Given the description of an element on the screen output the (x, y) to click on. 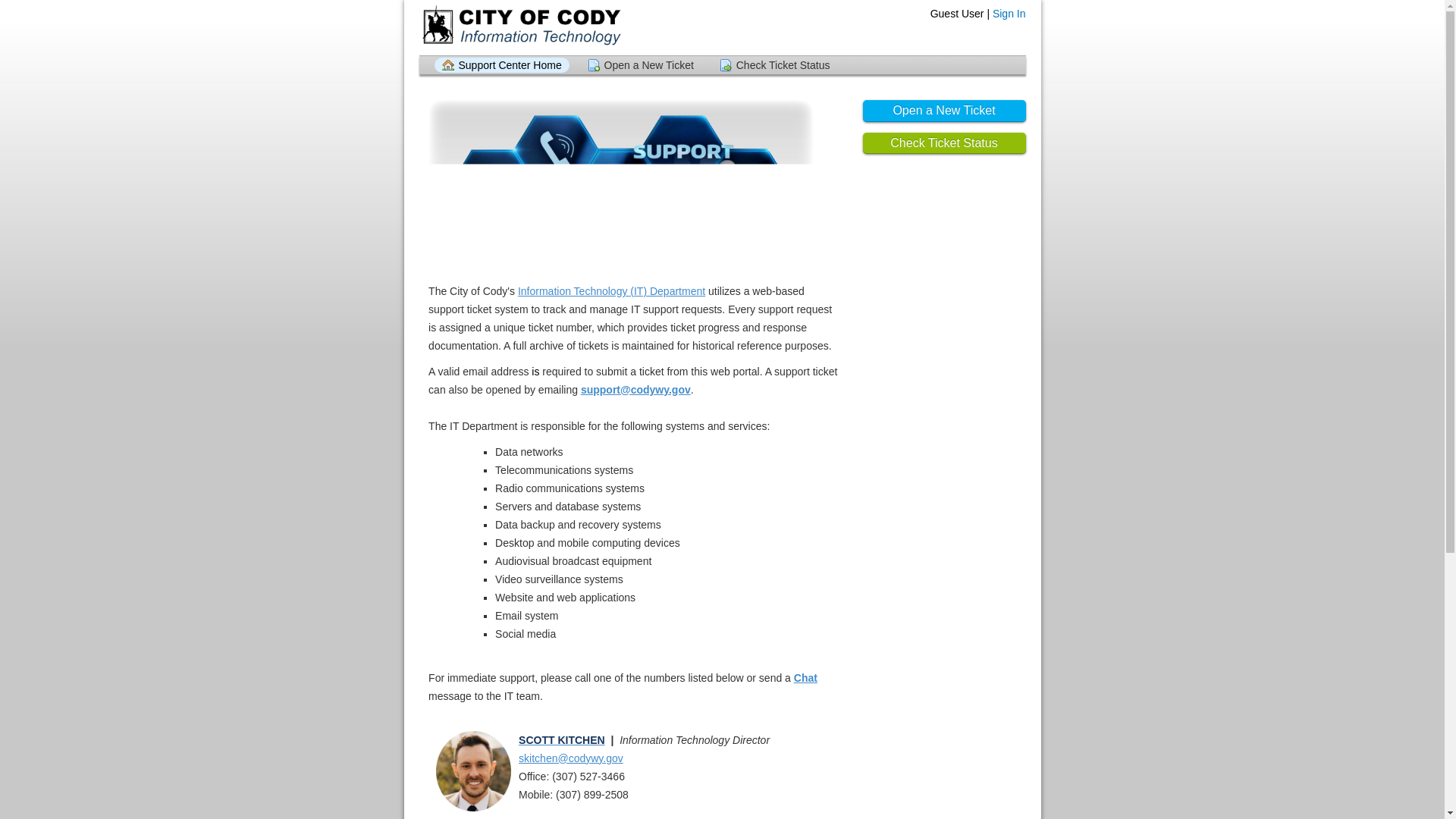
Sign In (1009, 13)
SCOTT KITCHEN (561, 739)
Open a New Ticket (944, 110)
Check Ticket Status (774, 64)
Support Center (520, 27)
Open a New Ticket (640, 64)
Chat (804, 677)
Support Center Home (501, 64)
Check Ticket Status (944, 143)
